Given the description of an element on the screen output the (x, y) to click on. 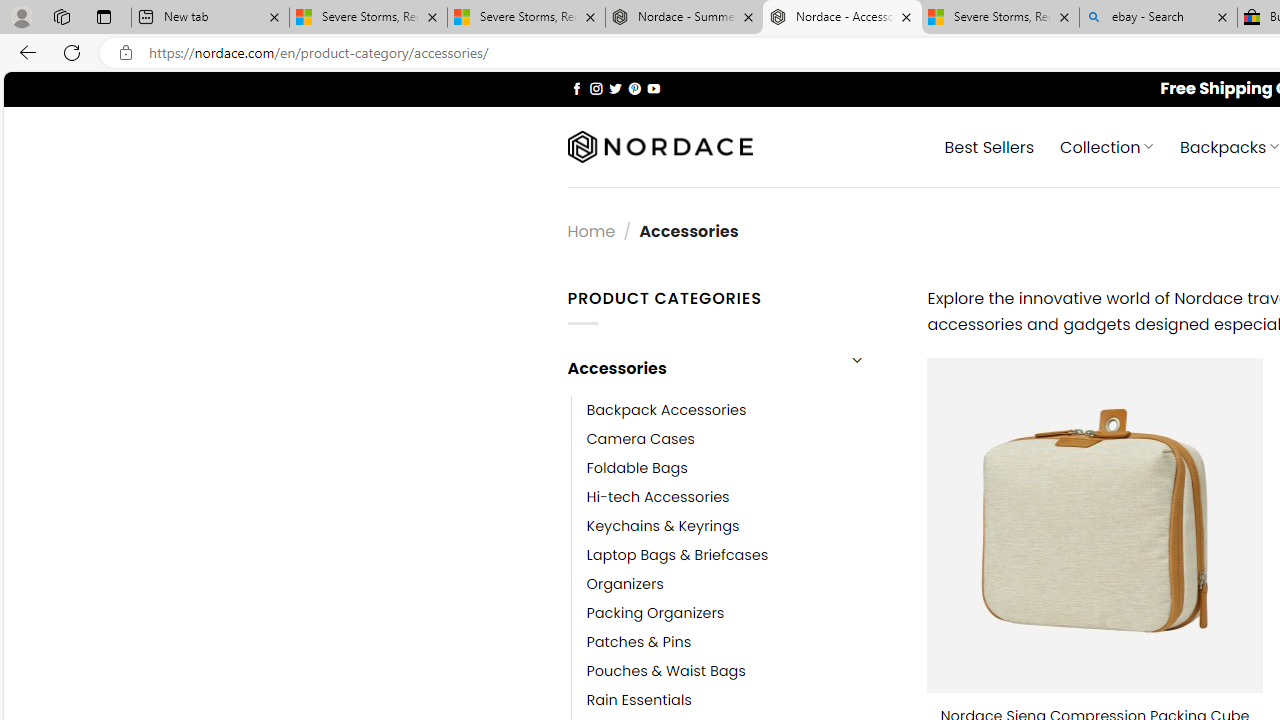
 Best Sellers (989, 146)
Laptop Bags & Briefcases (742, 555)
Pouches & Waist Bags (742, 671)
Pouches & Waist Bags (666, 671)
Camera Cases (640, 439)
Keychains & Keyrings (742, 526)
